Given the description of an element on the screen output the (x, y) to click on. 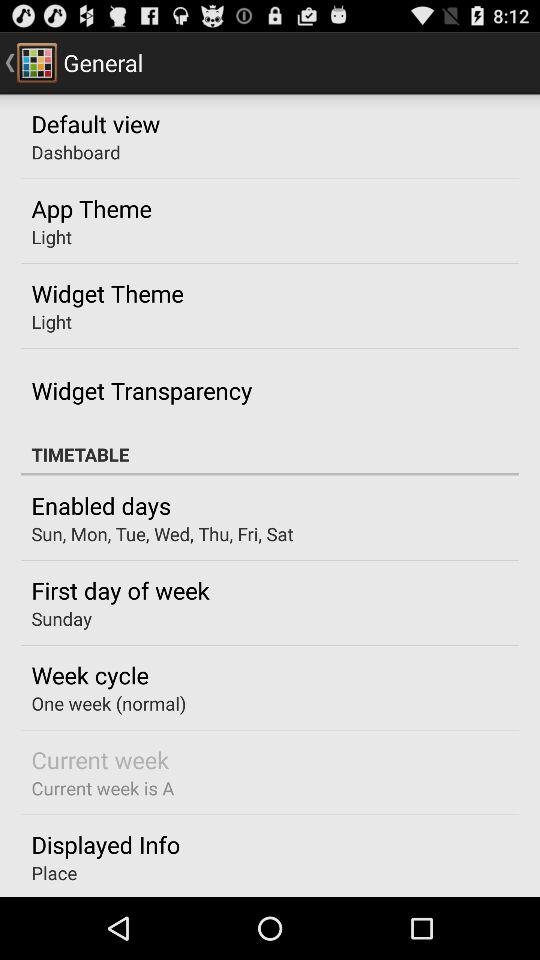
select the item below the light icon (141, 390)
